Given the description of an element on the screen output the (x, y) to click on. 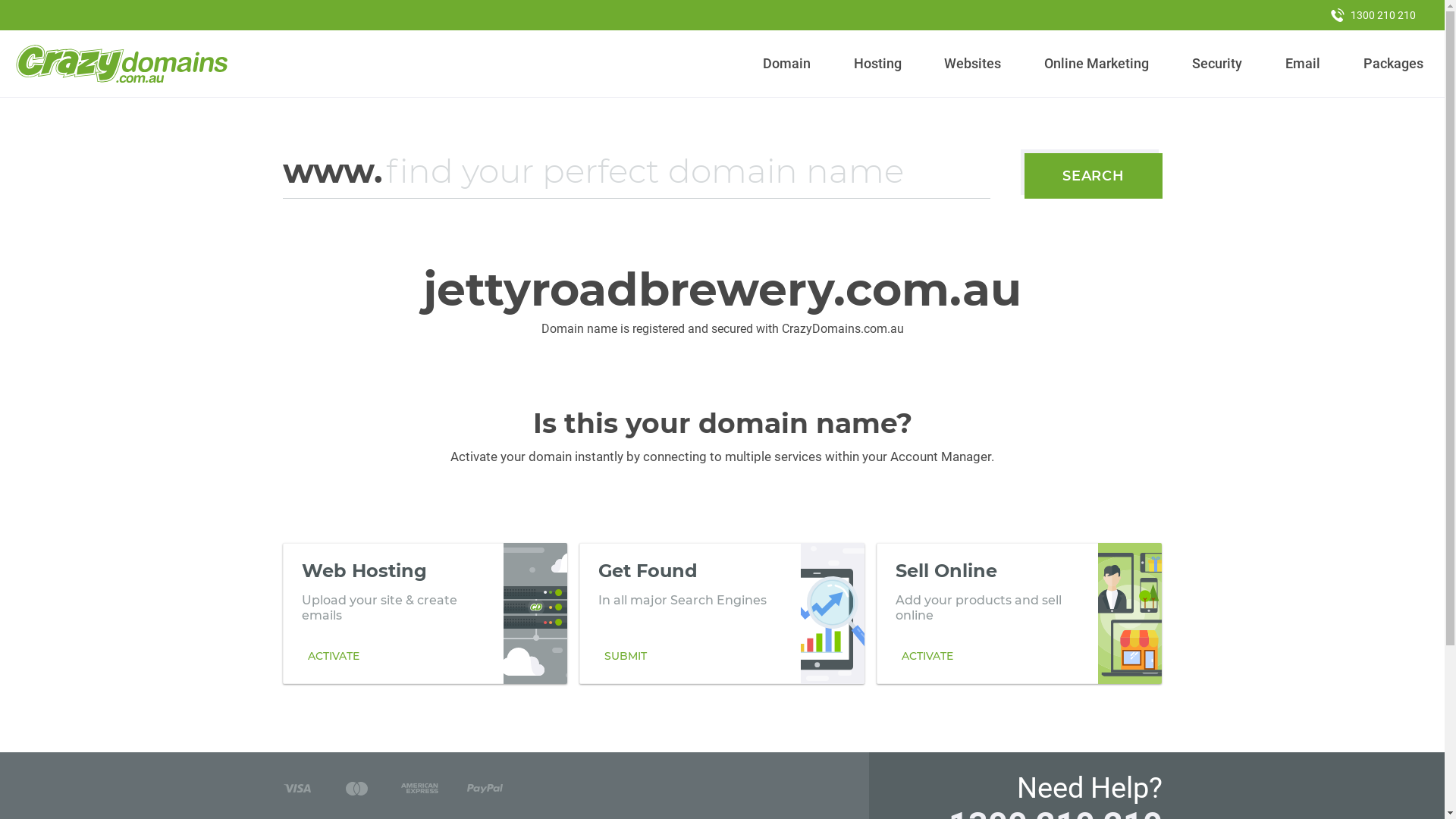
Email Element type: text (1302, 63)
1300 210 210 Element type: text (1373, 15)
SEARCH Element type: text (1092, 175)
Online Marketing Element type: text (1096, 63)
Sell Online
Add your products and sell online
ACTIVATE Element type: text (1018, 613)
Domain Element type: text (786, 63)
Hosting Element type: text (877, 63)
Security Element type: text (1217, 63)
Websites Element type: text (972, 63)
Packages Element type: text (1392, 63)
Web Hosting
Upload your site & create emails
ACTIVATE Element type: text (424, 613)
Get Found
In all major Search Engines
SUBMIT Element type: text (721, 613)
